Given the description of an element on the screen output the (x, y) to click on. 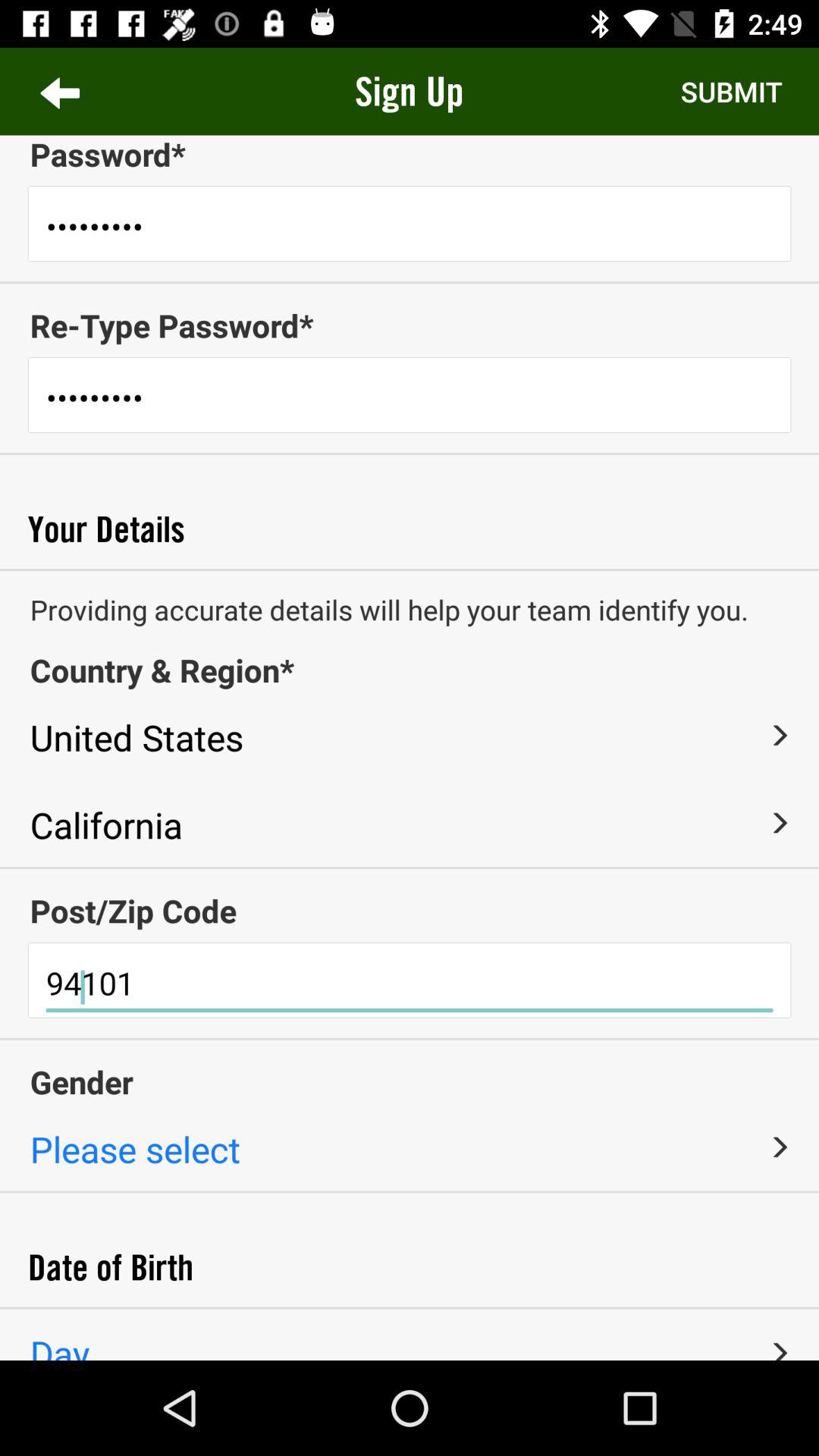
select icon above california icon (779, 735)
